Given the description of an element on the screen output the (x, y) to click on. 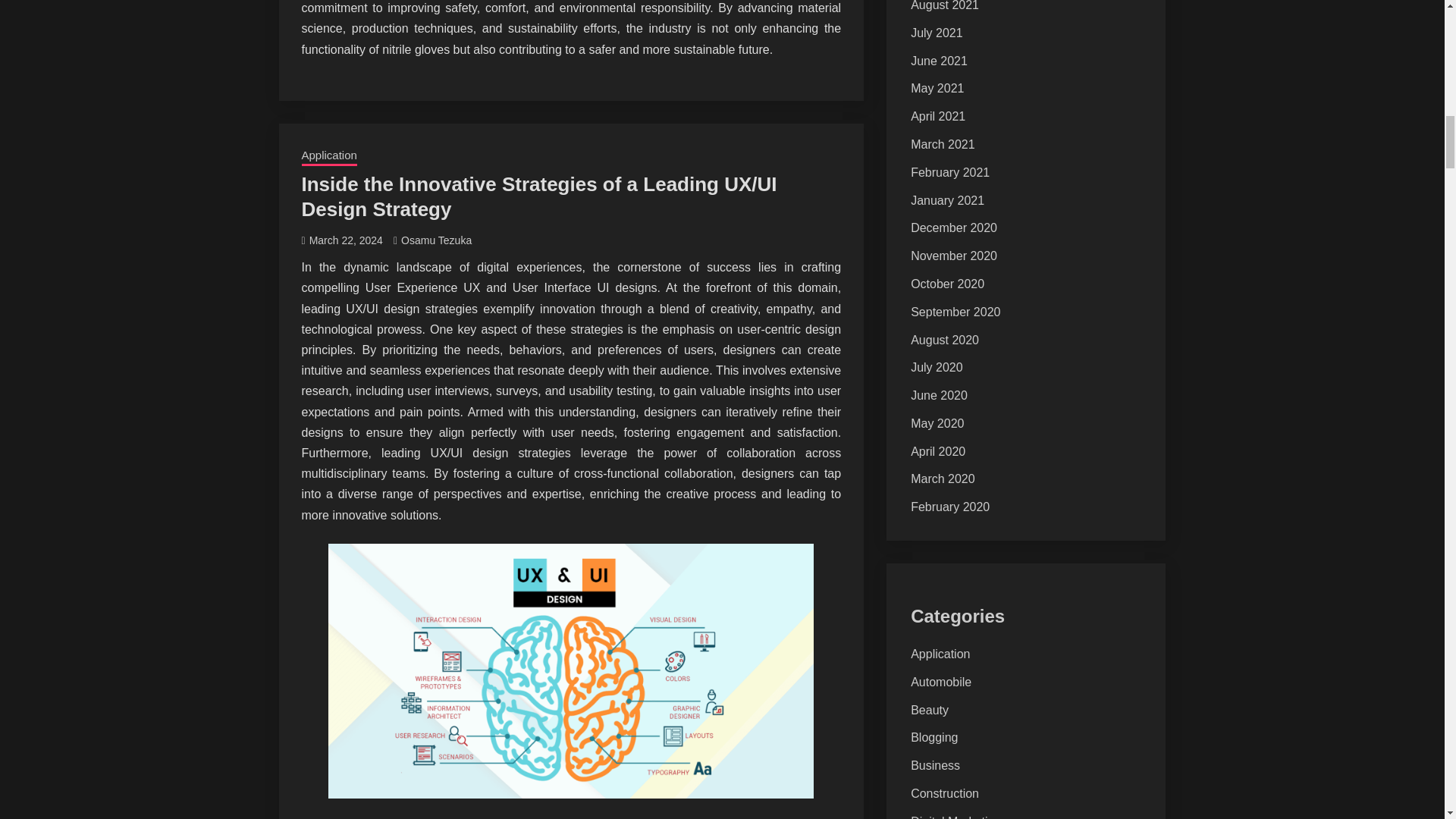
March 22, 2024 (345, 240)
Application (328, 157)
Osamu Tezuka (436, 240)
